Given the description of an element on the screen output the (x, y) to click on. 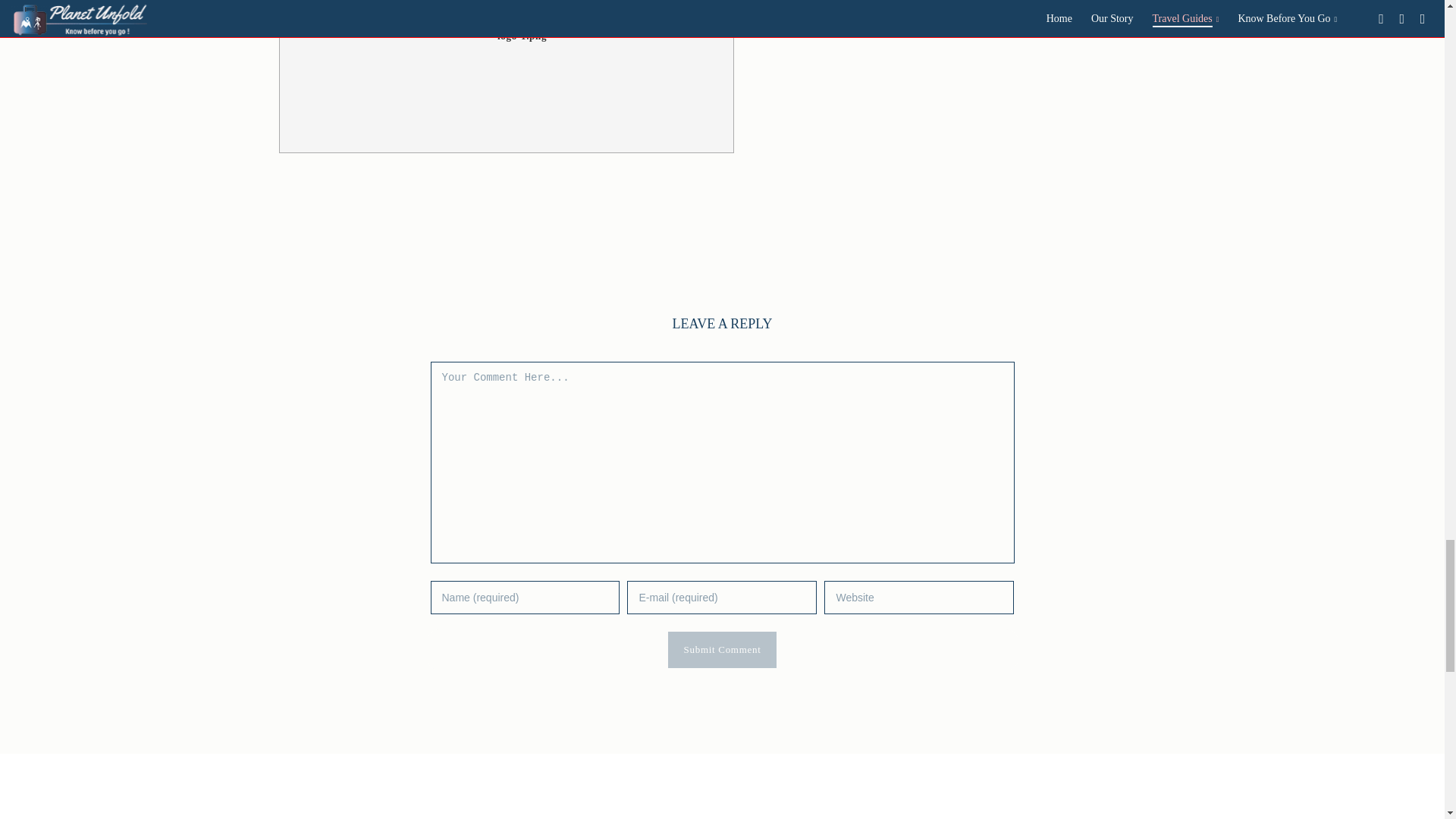
Submit Comment (722, 649)
